Given the description of an element on the screen output the (x, y) to click on. 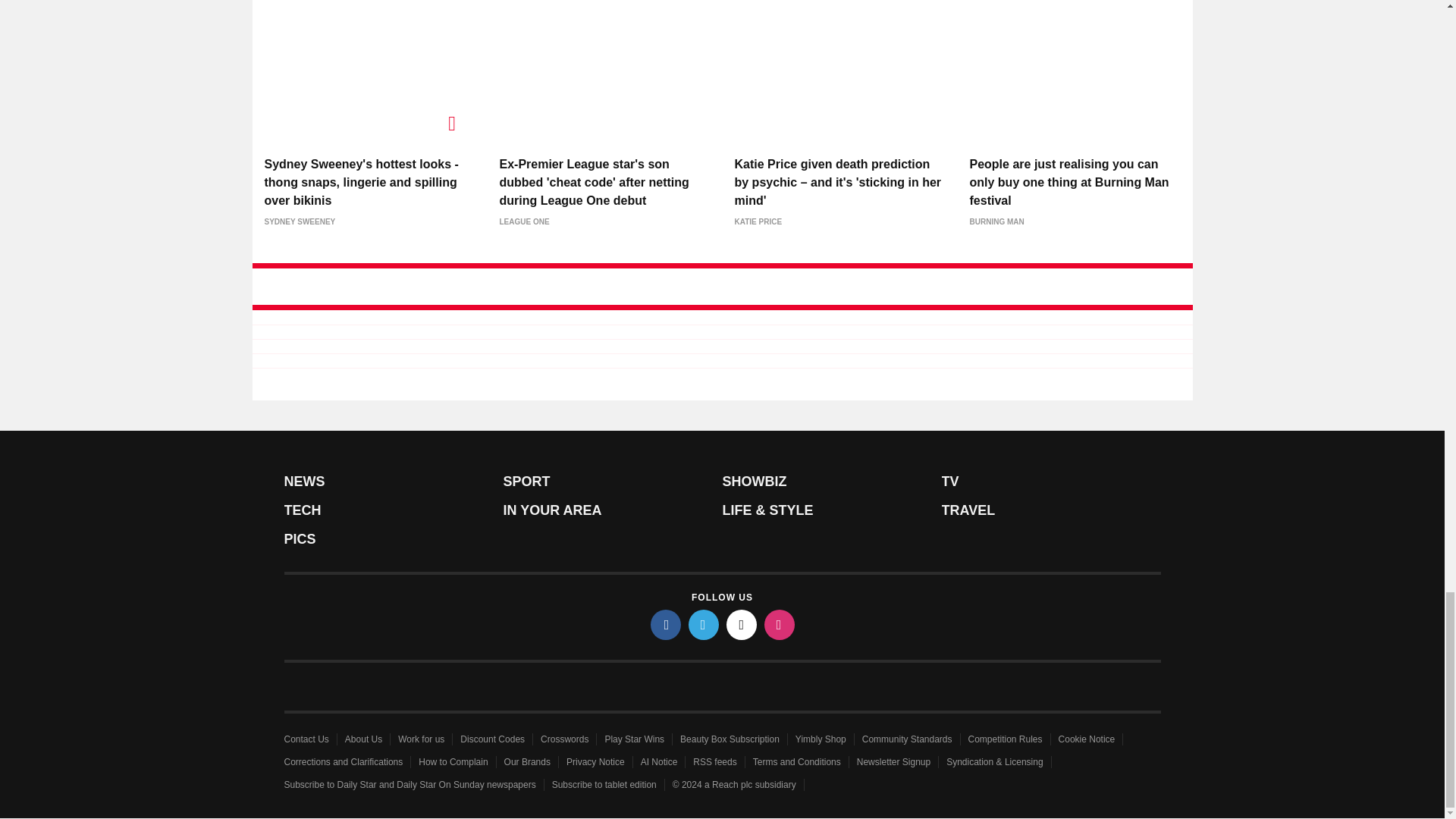
tiktok (741, 624)
twitter (703, 624)
instagram (779, 624)
facebook (665, 624)
